Given the description of an element on the screen output the (x, y) to click on. 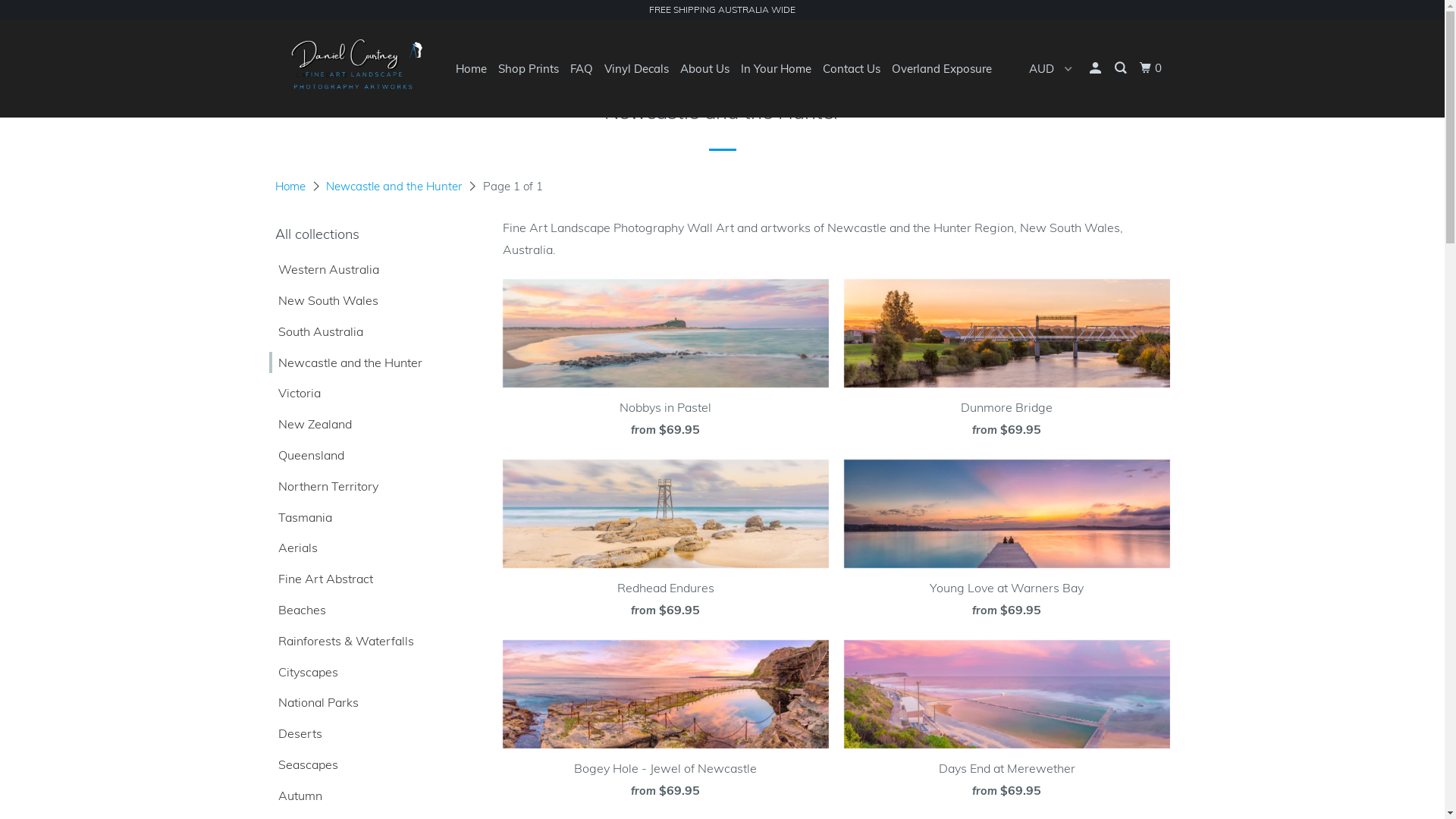
New South Wales Element type: text (322, 300)
Aerials Element type: text (292, 547)
Redhead Endures
from $69.95 Element type: text (665, 543)
Search Element type: hover (1121, 67)
Fine Art Abstract Element type: text (320, 578)
Queensland Element type: text (305, 455)
Dunmore Bridge
from $69.95 Element type: text (1006, 363)
Home Element type: text (289, 185)
Rainforests & Waterfalls Element type: text (340, 641)
Newcastle and the Hunter Element type: text (344, 362)
Deserts Element type: text (294, 733)
Bogey Hole - Jewel of Newcastle
from $69.95 Element type: text (665, 724)
Western Australia Element type: text (323, 269)
Overland Exposure Element type: text (941, 68)
About Us Element type: text (703, 68)
Northern Territory Element type: text (322, 486)
Cityscapes Element type: text (302, 672)
Beaches Element type: text (296, 610)
Tasmania Element type: text (299, 517)
0 Element type: text (1151, 67)
Daniel Courtney Photography Element type: hover (351, 67)
Shop Prints Element type: text (527, 68)
Newcastle and the Hunter Element type: text (393, 185)
Contact Us Element type: text (850, 68)
Home Element type: text (470, 68)
My Account  Element type: hover (1095, 67)
South Australia Element type: text (315, 331)
FAQ Element type: text (581, 68)
National Parks Element type: text (312, 702)
Nobbys in Pastel
from $69.95 Element type: text (665, 363)
Victoria Element type: text (294, 393)
New Zealand Element type: text (309, 424)
Seascapes Element type: text (302, 764)
Autumn Element type: text (294, 795)
Vinyl Decals Element type: text (635, 68)
Days End at Merewether
from $69.95 Element type: text (1006, 724)
Young Love at Warners Bay
from $69.95 Element type: text (1006, 543)
In Your Home Element type: text (775, 68)
